Given the description of an element on the screen output the (x, y) to click on. 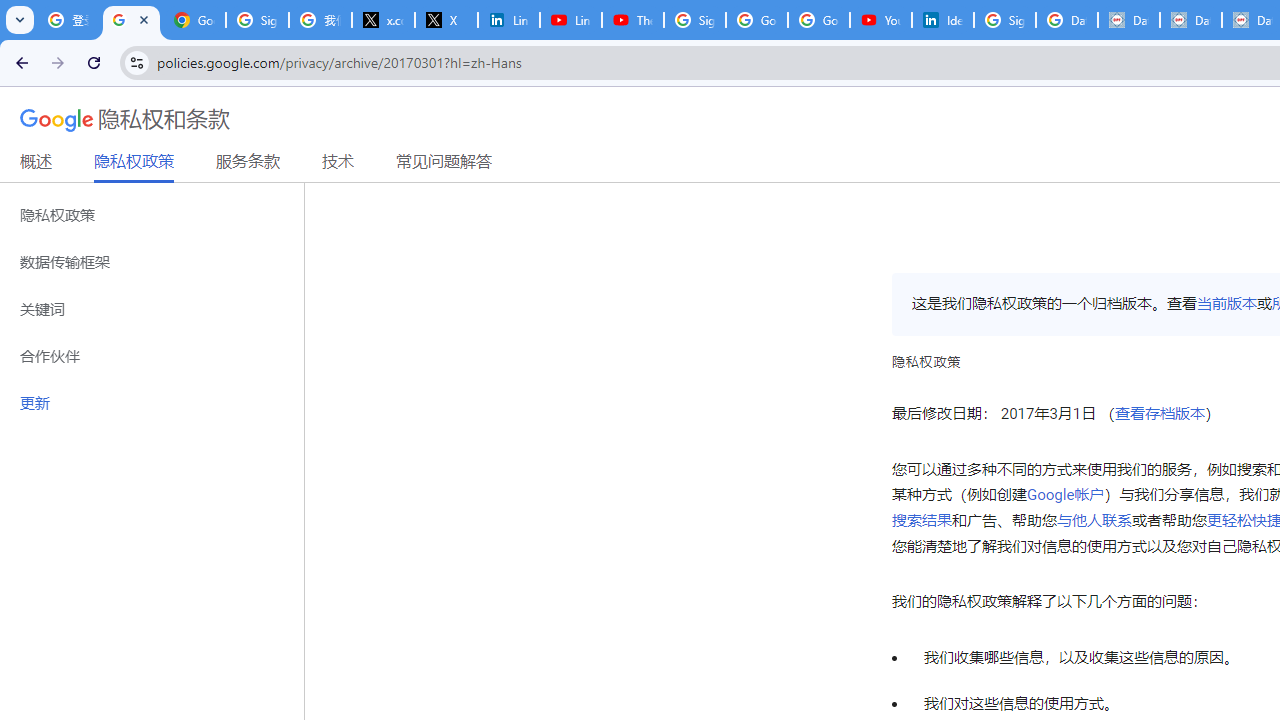
Data Privacy Framework (1128, 20)
LinkedIn Privacy Policy (508, 20)
Sign in - Google Accounts (1004, 20)
